Given the description of an element on the screen output the (x, y) to click on. 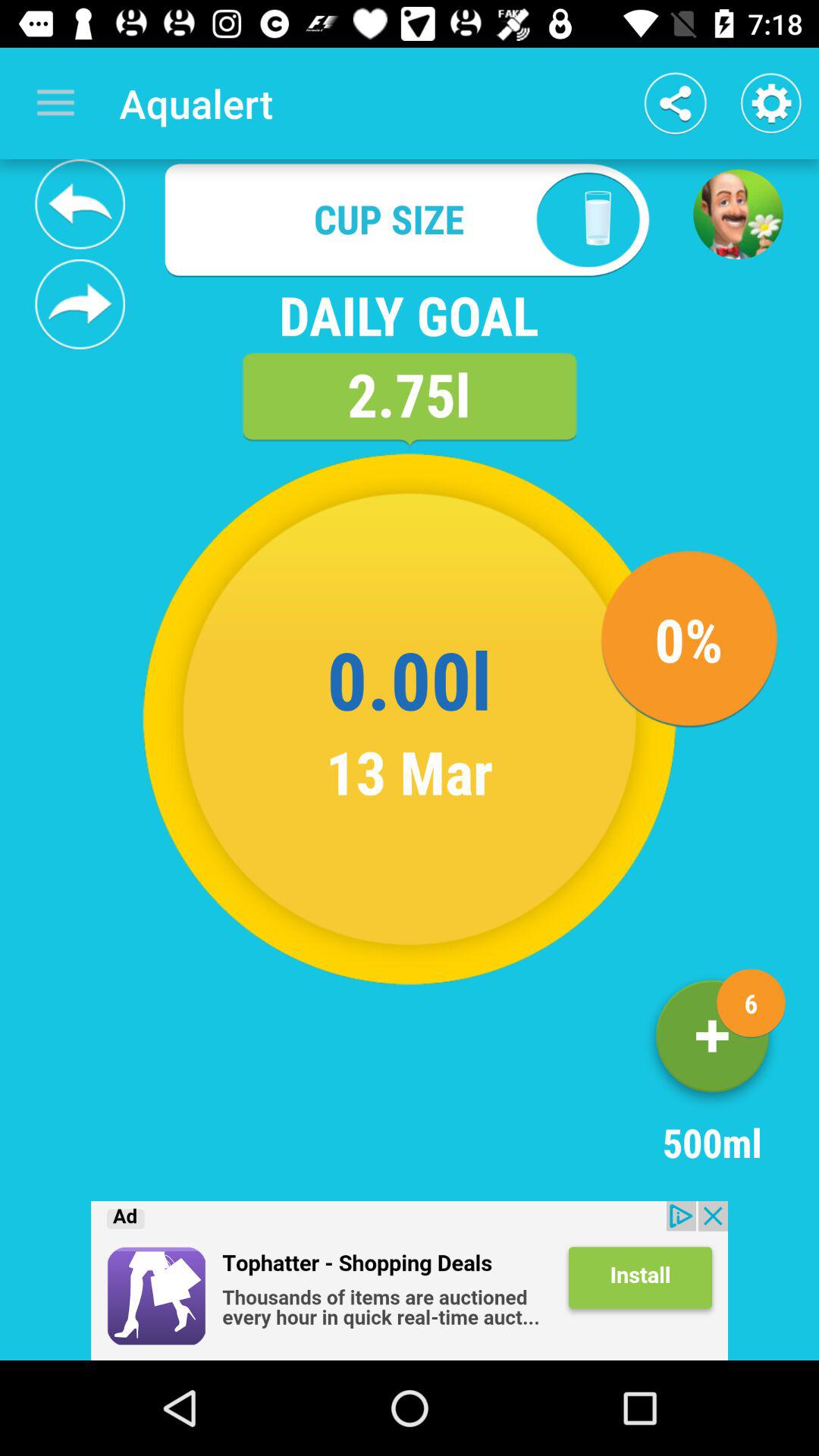
install an app (409, 1280)
